Given the description of an element on the screen output the (x, y) to click on. 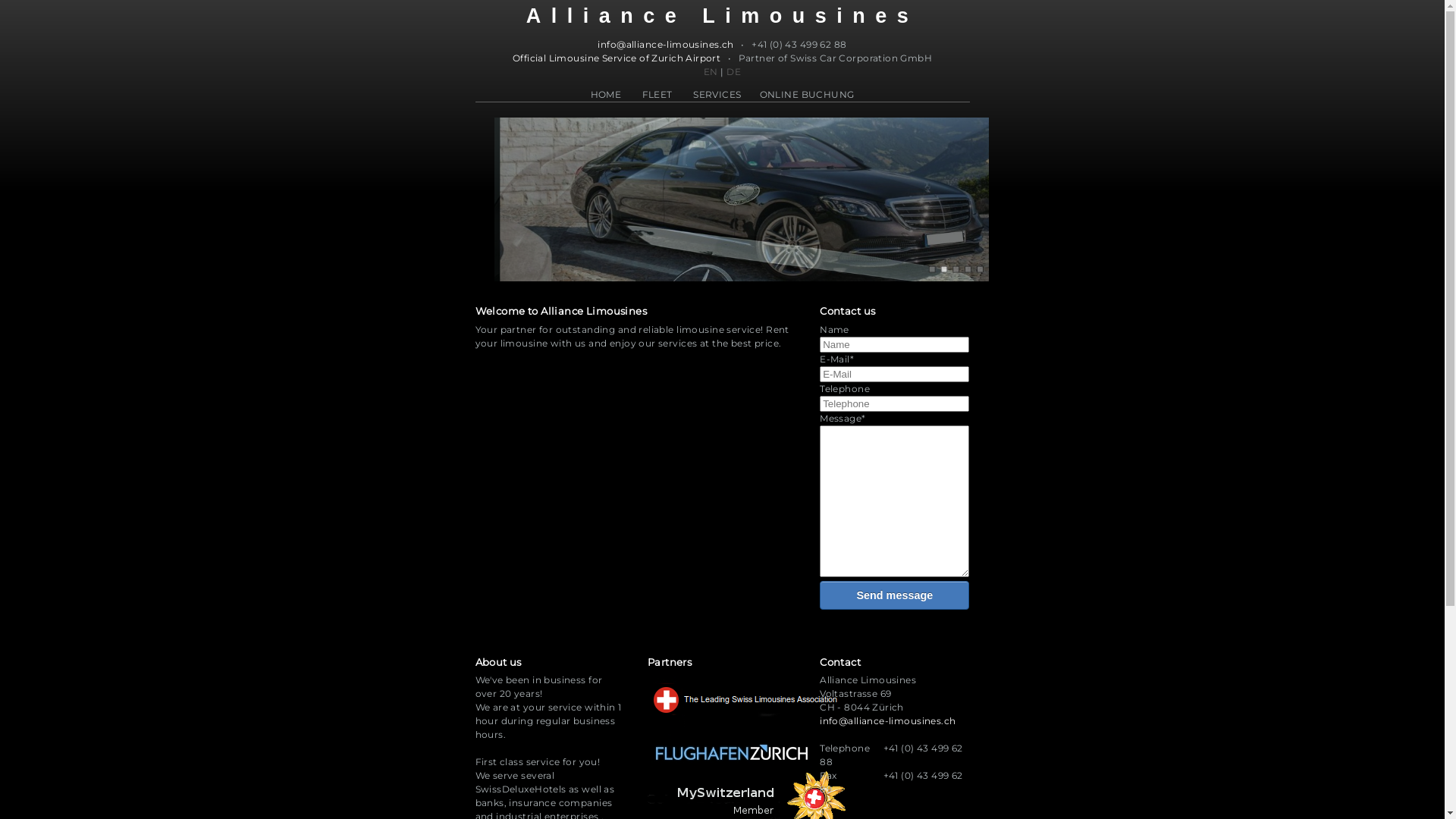
EN Element type: text (710, 71)
SERVICES Element type: text (716, 94)
Send message Element type: text (894, 594)
ONLINE BUCHUNG Element type: text (806, 94)
info@alliance-limousines.ch Element type: text (665, 44)
Alliance Limousines Element type: text (721, 15)
info@alliance-limousines.ch Element type: text (887, 720)
DE Element type: text (733, 71)
HOME Element type: text (605, 94)
FLEET Element type: text (657, 94)
Official Limousine Service of Zurich Airport Element type: text (616, 58)
